Given the description of an element on the screen output the (x, y) to click on. 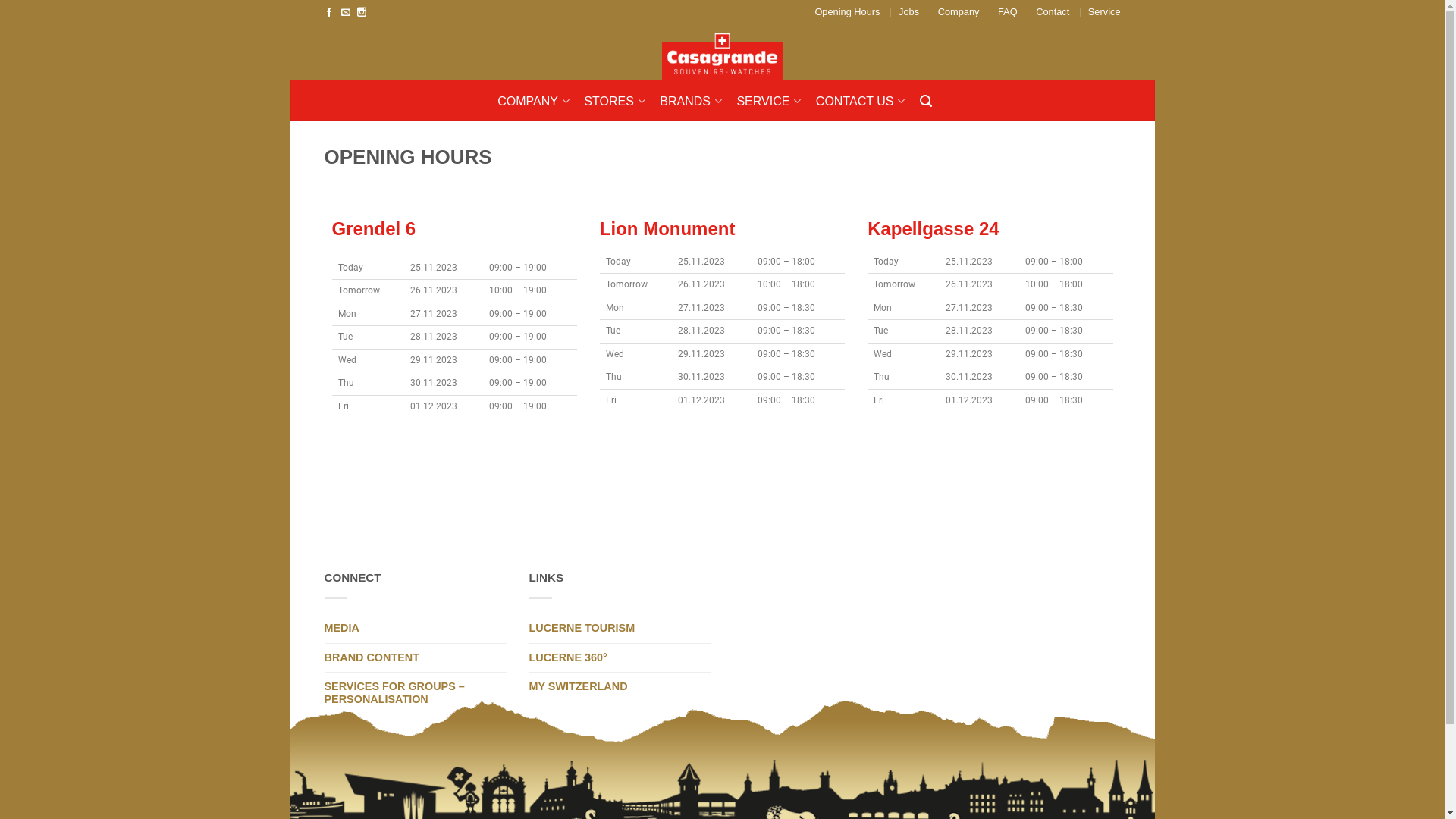
MEDIA Element type: text (415, 628)
Service Element type: text (1104, 11)
Contact Element type: text (1052, 11)
Kapellgasse 24 Element type: text (932, 228)
LUCERNE TOURISM Element type: text (620, 628)
STORES Element type: text (619, 101)
BRANDS Element type: text (696, 101)
Lion Monument Element type: text (667, 228)
Opening Hours Element type: text (846, 11)
COMPANY Element type: text (538, 101)
Grendel 6 Element type: text (374, 228)
SERVICE Element type: text (774, 101)
Company Element type: text (958, 11)
MY SWITZERLAND Element type: text (620, 686)
CONTACT US Element type: text (865, 101)
Jobs Element type: text (908, 11)
FAQ Element type: text (1007, 11)
BRAND CONTENT Element type: text (415, 657)
